Given the description of an element on the screen output the (x, y) to click on. 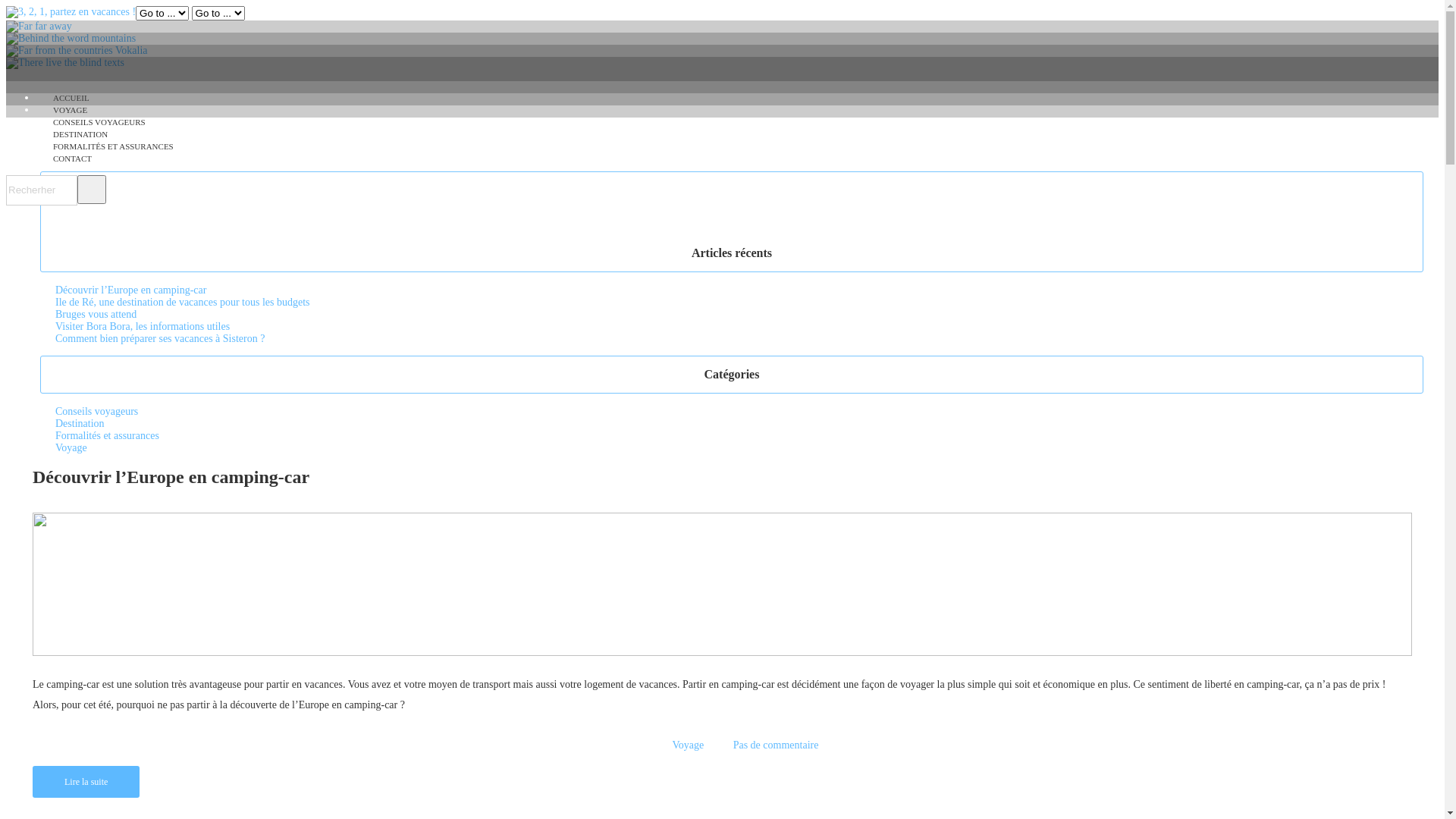
Visiter Bora Bora, les informations utiles Element type: text (142, 326)
Pas de commentaire Element type: text (776, 744)
Voyage Element type: text (71, 447)
Voyage Element type: text (687, 744)
Conseils voyageurs Element type: text (96, 411)
VOYAGE Element type: text (69, 109)
Bruges vous attend Element type: text (95, 314)
CONTACT Element type: text (72, 158)
Destination Element type: text (79, 423)
3, 2, 1, partez en vacances ! Element type: hover (70, 12)
DESTINATION Element type: text (80, 133)
ACCUEIL Element type: text (71, 97)
CONSEILS VOYAGEURS Element type: text (99, 121)
Lire la suite Element type: text (85, 781)
